Given the description of an element on the screen output the (x, y) to click on. 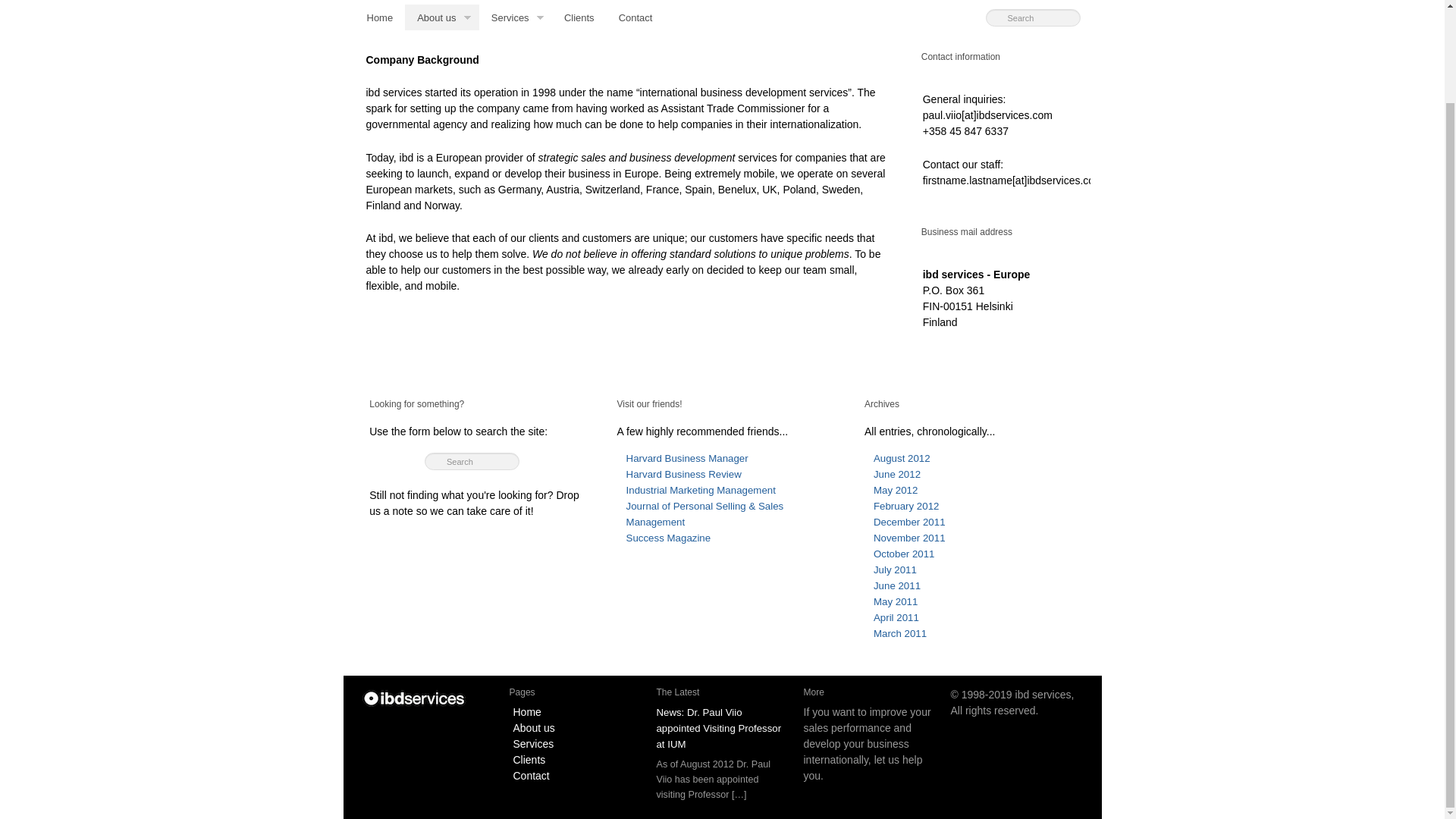
Harvard Business Manager (687, 458)
December 2011 (908, 521)
About us (441, 17)
Services (515, 17)
Home (380, 17)
June 2012 (896, 473)
Harvard Business Review (683, 473)
Industrial Marketing Management (701, 490)
Home (415, 697)
Contact (636, 17)
Success Magazine (668, 537)
Clients (579, 17)
Harvard Business Review (683, 473)
May 2012 (895, 490)
